Given the description of an element on the screen output the (x, y) to click on. 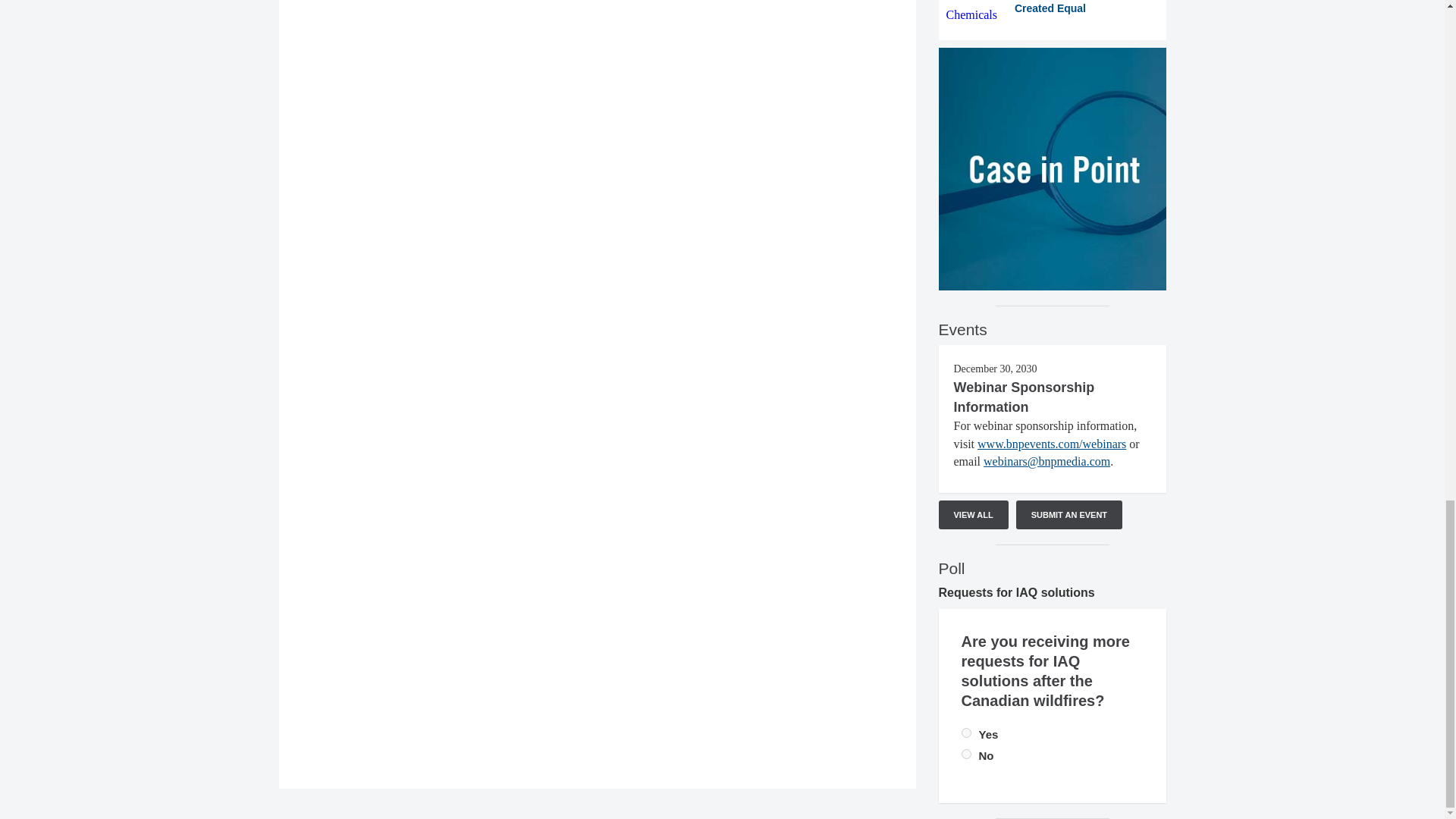
All PFAS Chemicals are Not Created Equal (1052, 12)
195 (965, 754)
196 (965, 732)
Webinar Sponsorship Information (1023, 397)
